Given the description of an element on the screen output the (x, y) to click on. 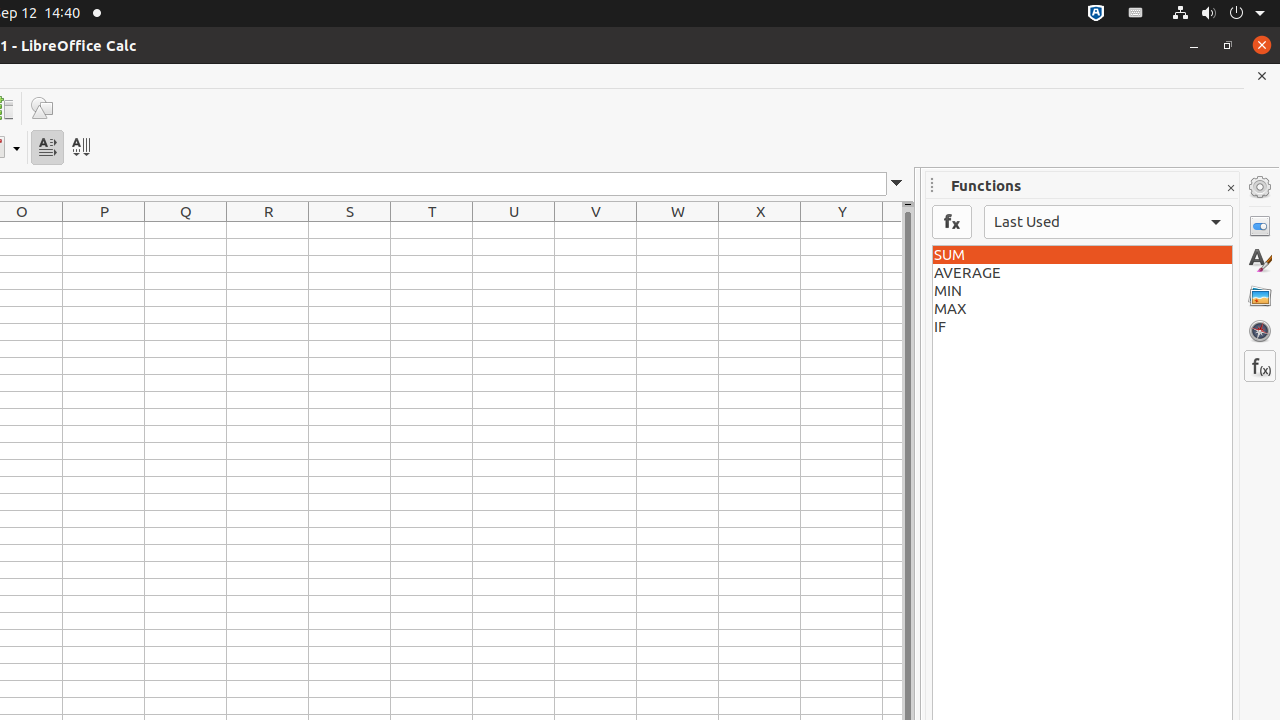
:1.21/StatusNotifierItem Element type: menu (1136, 13)
System Element type: menu (1218, 13)
:1.72/StatusNotifierItem Element type: menu (1096, 13)
